Given the description of an element on the screen output the (x, y) to click on. 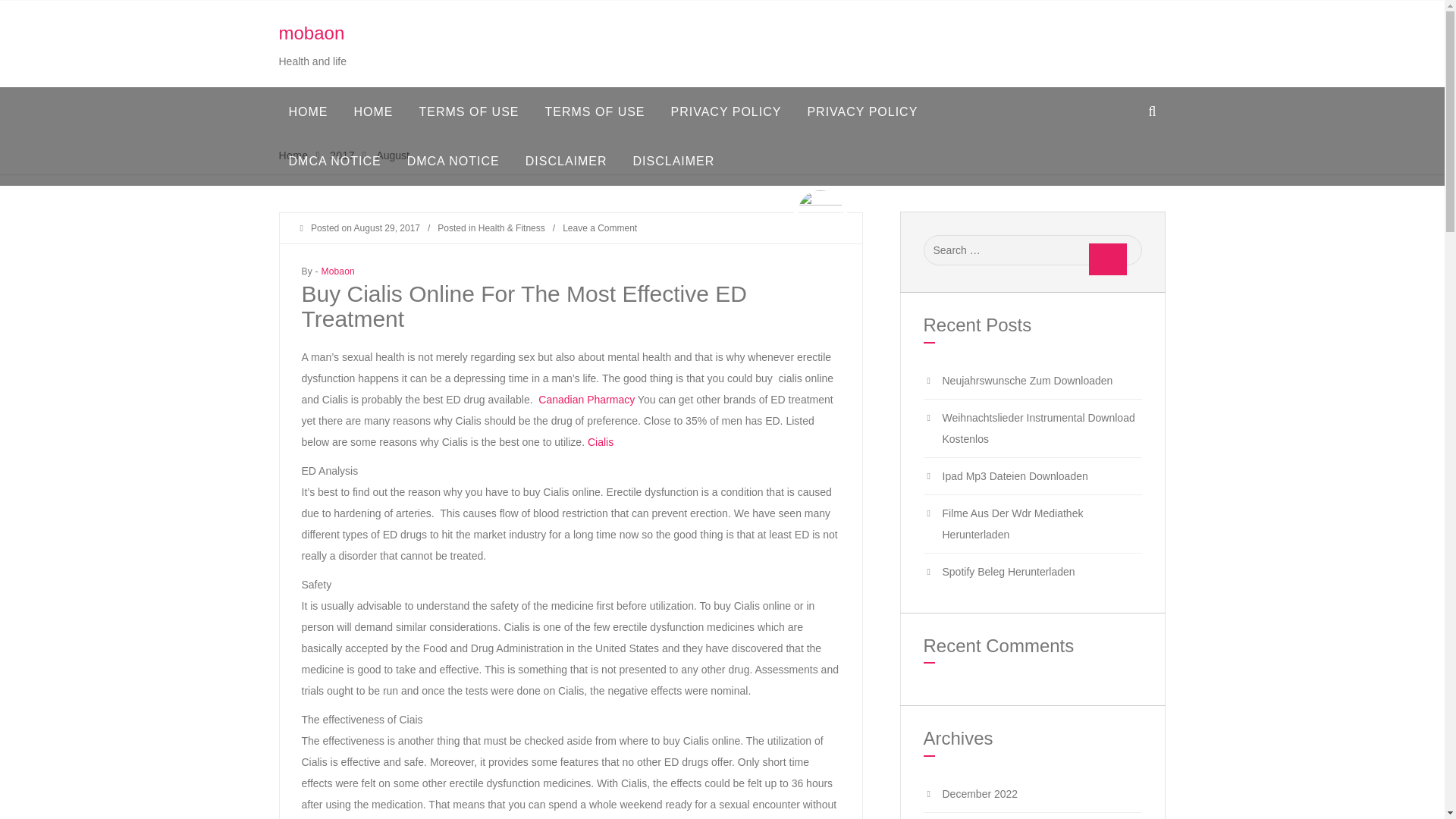
Disclaimer (566, 160)
Leave a Comment (599, 227)
PRIVACY POLICY (861, 111)
Neujahrswunsche Zum Downloaden (1027, 380)
Spotify Beleg Herunterladen (1008, 571)
Weihnachtslieder Instrumental Download Kostenlos (1038, 428)
Ipad Mp3 Dateien Downloaden (1014, 476)
Buy Cialis Online For The Most Effective ED Treatment (523, 306)
August 29, 2017 (386, 227)
DISCLAIMER (674, 160)
